Given the description of an element on the screen output the (x, y) to click on. 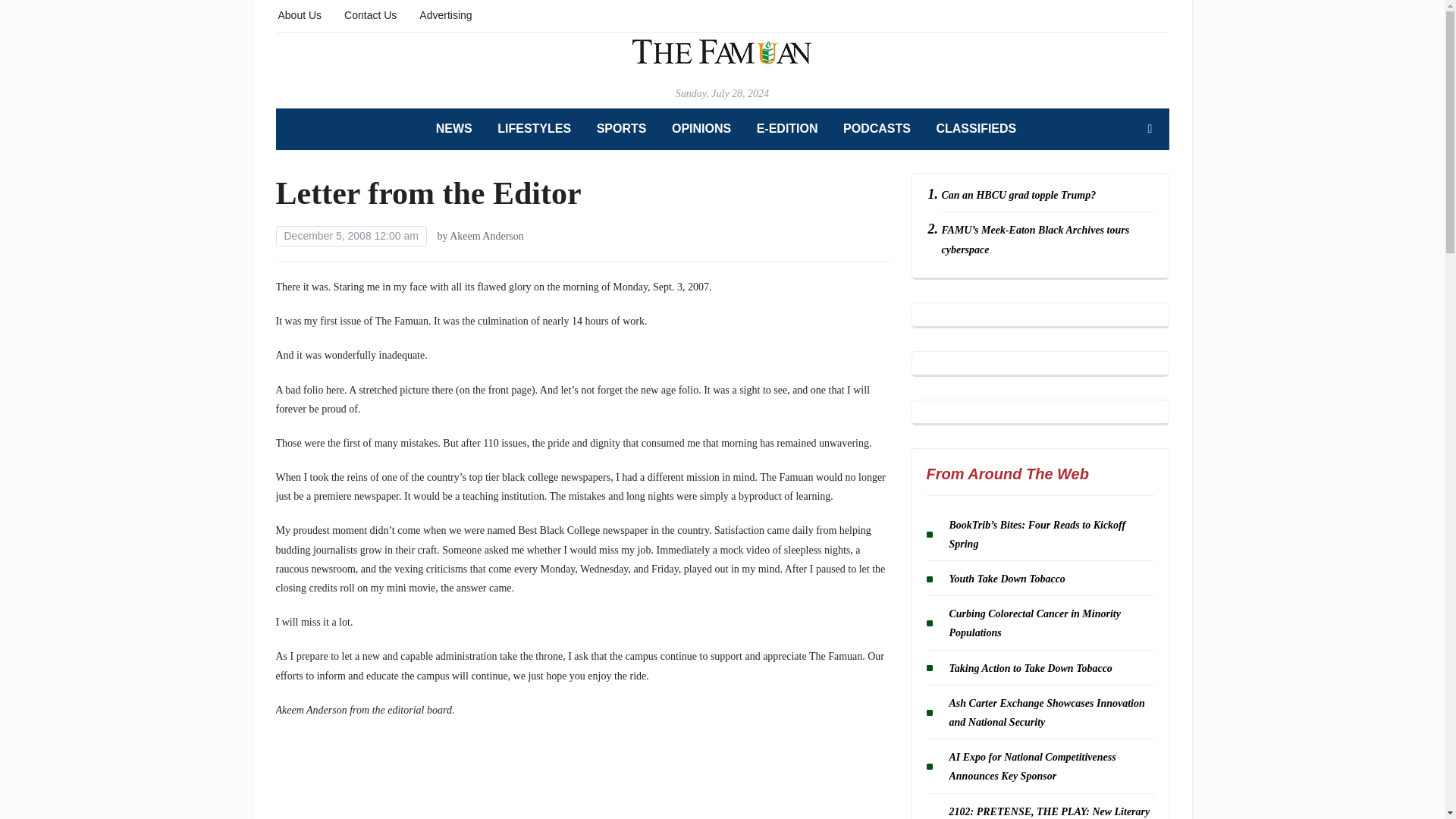
About Us (299, 14)
AI Expo for National Competitiveness Announces Key Sponsor (1032, 766)
Taking Action to Take Down Tobacco (1030, 668)
Can an HBCU grad topple Trump? (1019, 194)
Youth Take Down Tobacco (1007, 578)
OPINIONS (700, 128)
NEWS (453, 128)
Permanent Link to Can an HBCU grad topple Trump? (1019, 194)
Search (1149, 128)
E-EDITION (787, 128)
CLASSIFIEDS (976, 128)
Advertising (445, 14)
